Given the description of an element on the screen output the (x, y) to click on. 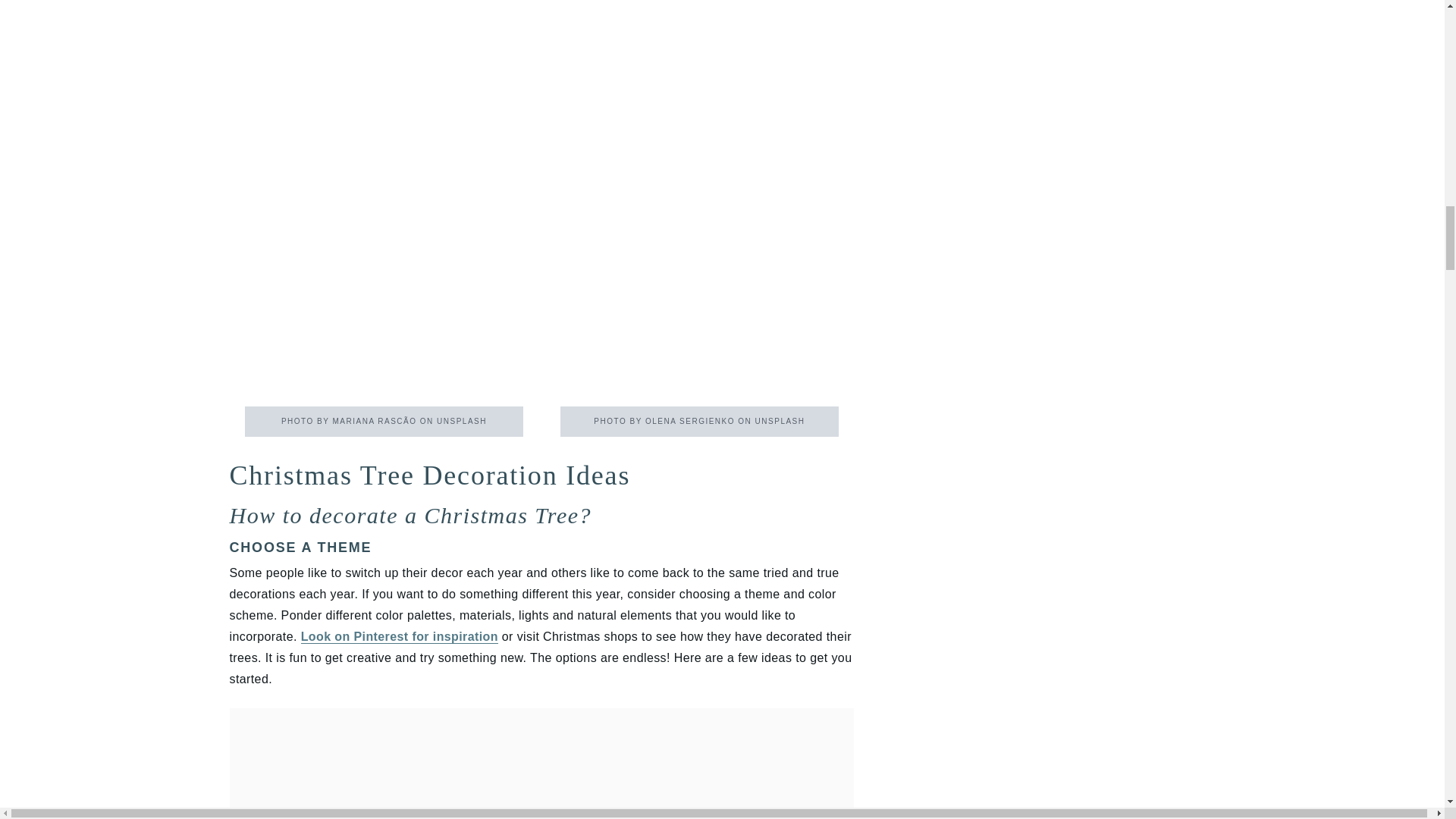
Christmas Tree Decorating (698, 208)
OLENA SERGIENKO (690, 420)
Christmas Tree Decor Ideas (383, 208)
UNSPLASH (461, 420)
